Given the description of an element on the screen output the (x, y) to click on. 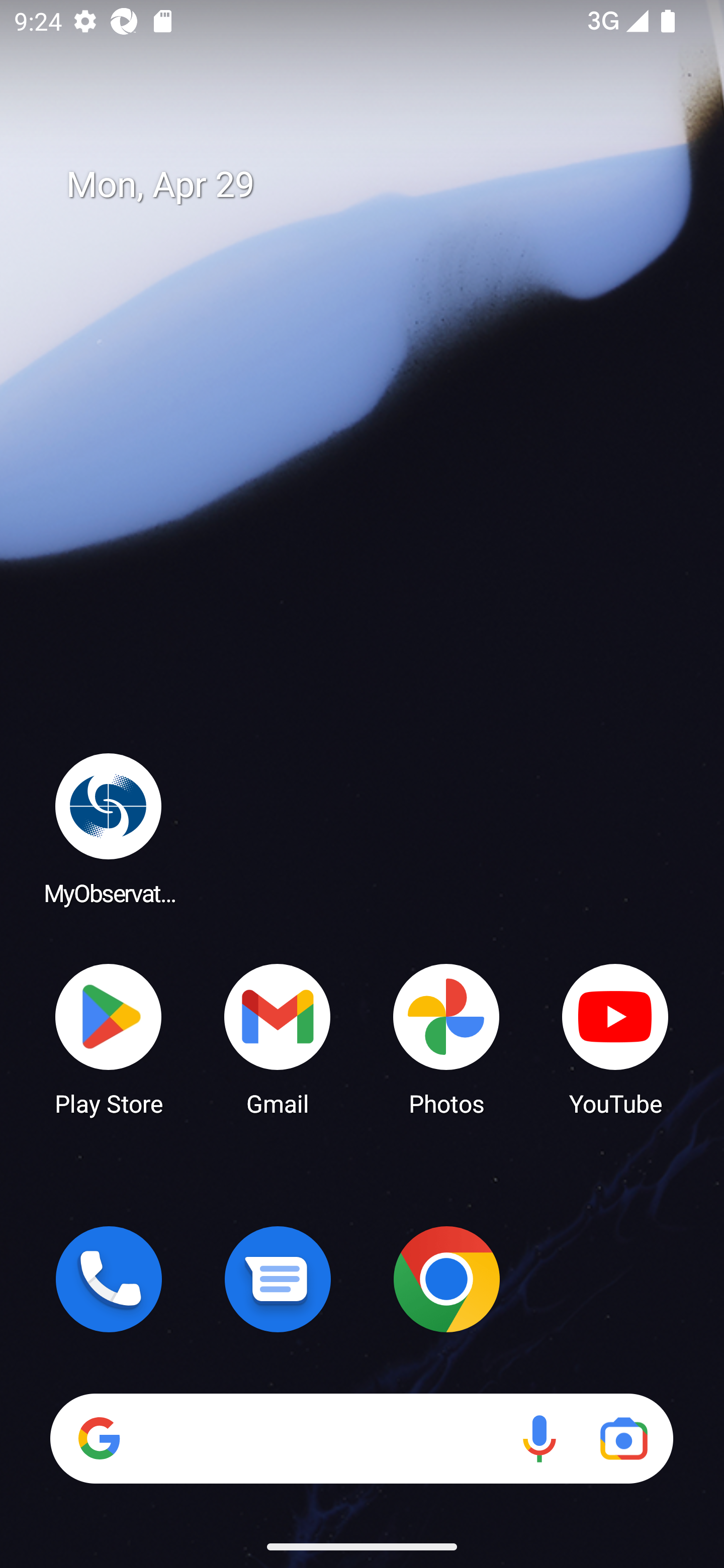
Mon, Apr 29 (375, 184)
MyObservatory (108, 828)
Play Store (108, 1038)
Gmail (277, 1038)
Photos (445, 1038)
YouTube (615, 1038)
Phone (108, 1279)
Messages (277, 1279)
Chrome (446, 1279)
Voice search (539, 1438)
Google Lens (623, 1438)
